Given the description of an element on the screen output the (x, y) to click on. 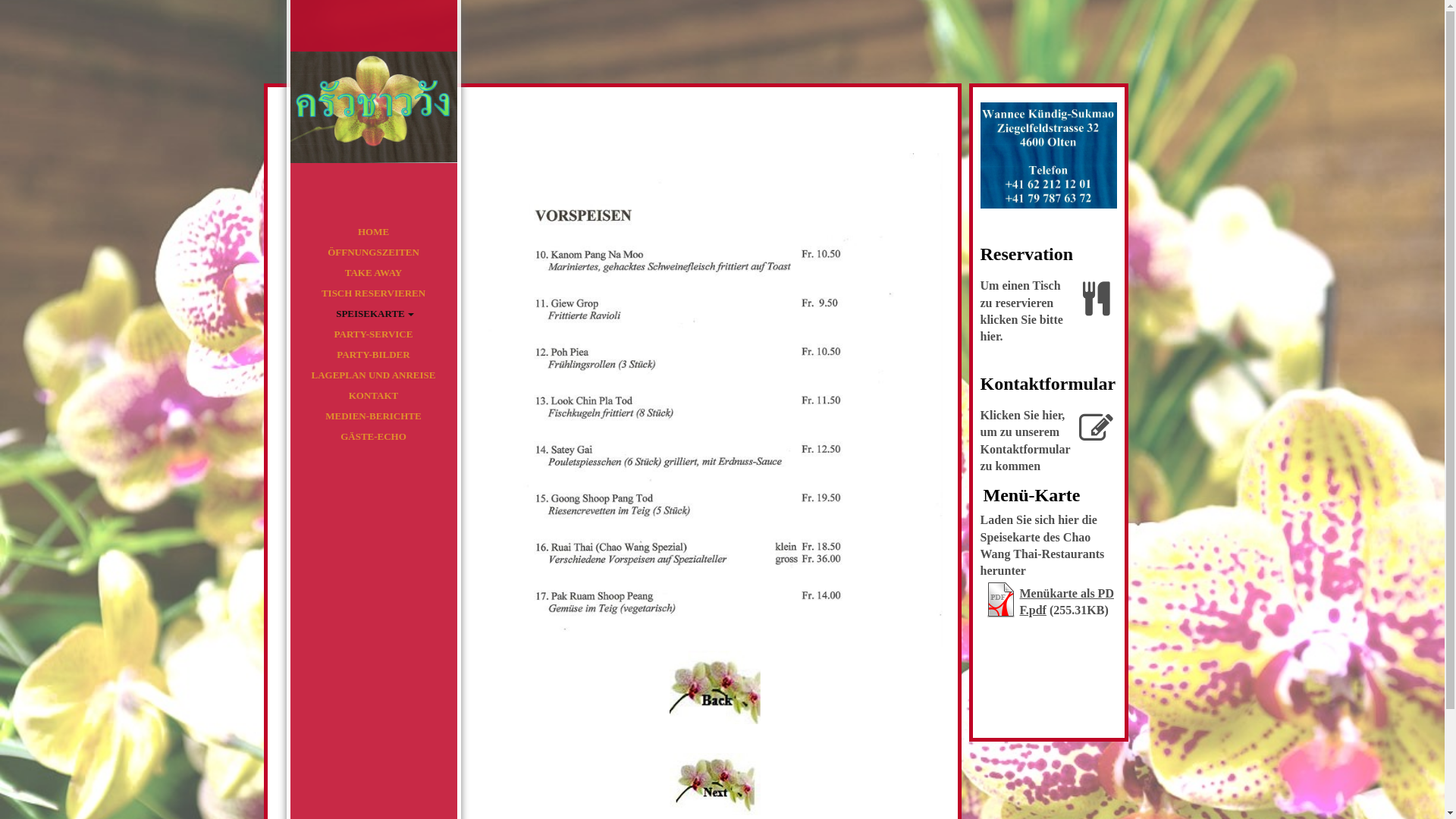
PARTY-BILDER Element type: text (372, 354)
HOME Element type: text (372, 231)
Um einen Tisch zu reservieren klicken Sie bitte hier. Element type: text (1047, 313)
TISCH RESERVIEREN Element type: text (372, 293)
KONTAKT Element type: text (372, 395)
PARTY-SERVICE Element type: text (372, 334)
TAKE AWAY Element type: text (372, 272)
MEDIEN-BERICHTE Element type: text (372, 416)
LAGEPLAN UND ANREISE Element type: text (372, 375)
  Element type: text (372, 106)
SPEISEKARTE Element type: text (372, 313)
